Given the description of an element on the screen output the (x, y) to click on. 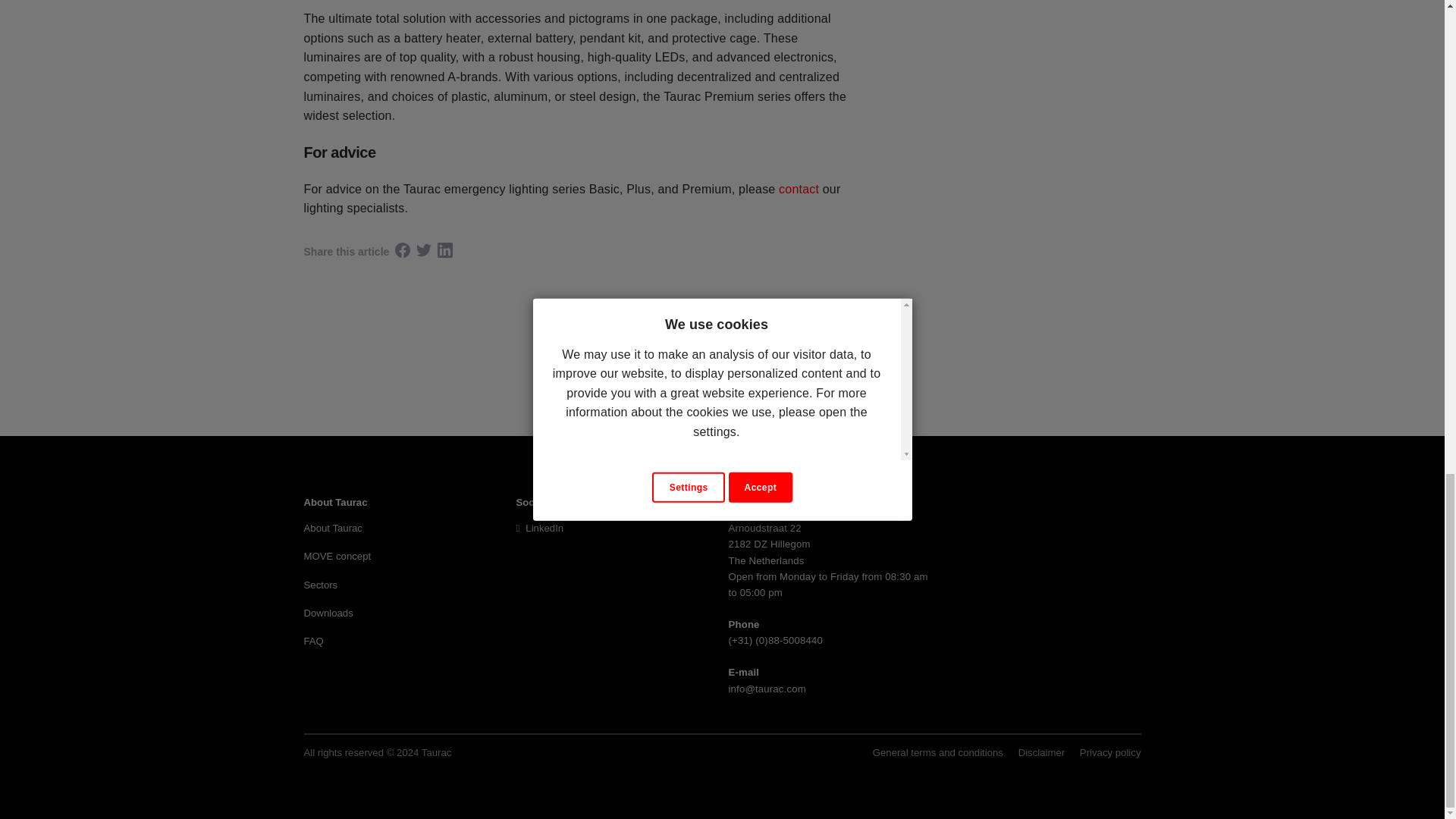
Sectors (319, 584)
MOVE concept (336, 555)
About Taurac (331, 527)
FAQ (312, 641)
LinkedIn (539, 527)
Downloads (327, 613)
contact (798, 188)
Further news (722, 359)
